Given the description of an element on the screen output the (x, y) to click on. 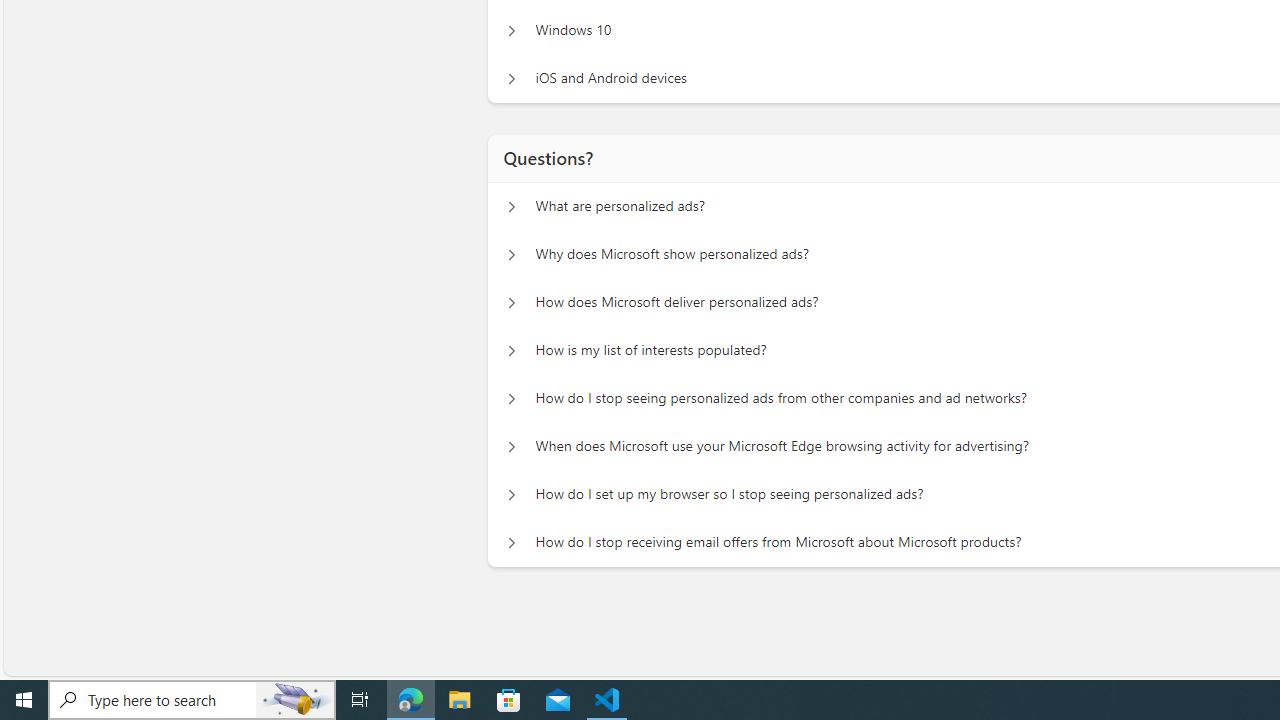
Questions? How is my list of interests populated? (511, 350)
Questions? How does Microsoft deliver personalized ads? (511, 302)
Questions? What are personalized ads? (511, 206)
Manage personalized ads on your device Windows 10 (511, 30)
Questions? Why does Microsoft show personalized ads? (511, 255)
